Given the description of an element on the screen output the (x, y) to click on. 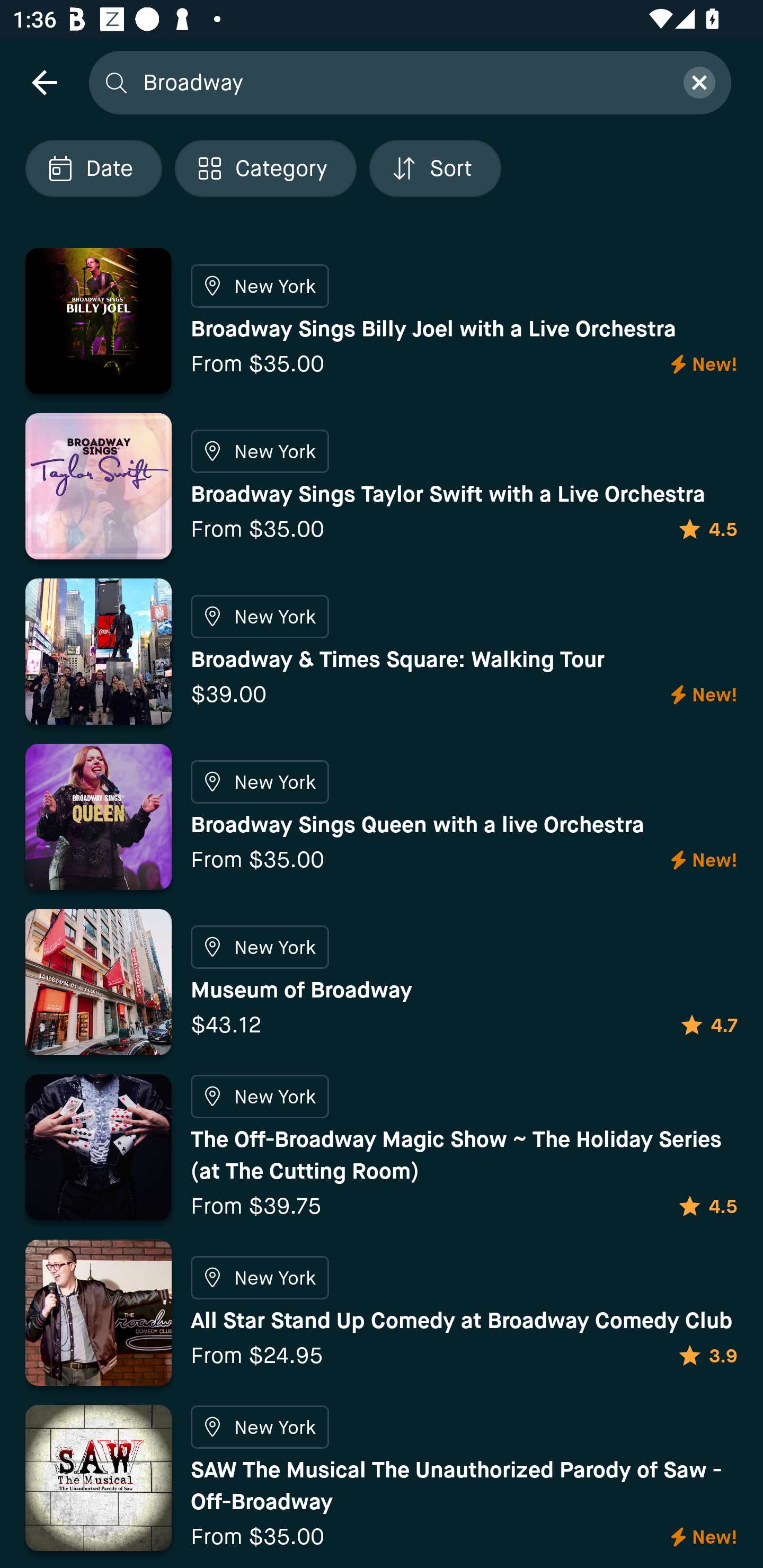
navigation icon (44, 81)
Broadway (402, 81)
Localized description Date (93, 168)
Localized description Category (265, 168)
Localized description Sort (435, 168)
